Given the description of an element on the screen output the (x, y) to click on. 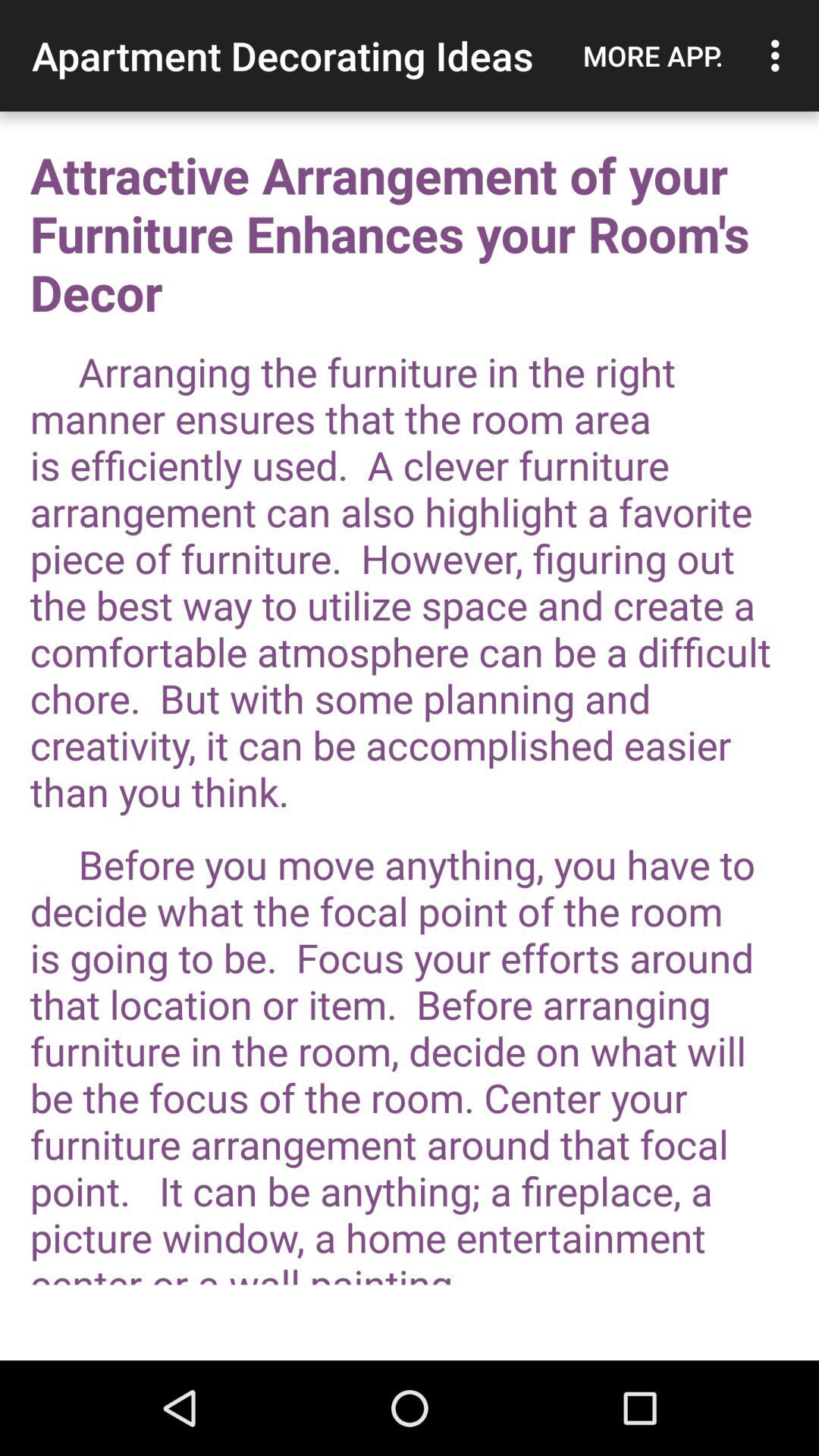
press the app to the right of the apartment decorating ideas (653, 55)
